Given the description of an element on the screen output the (x, y) to click on. 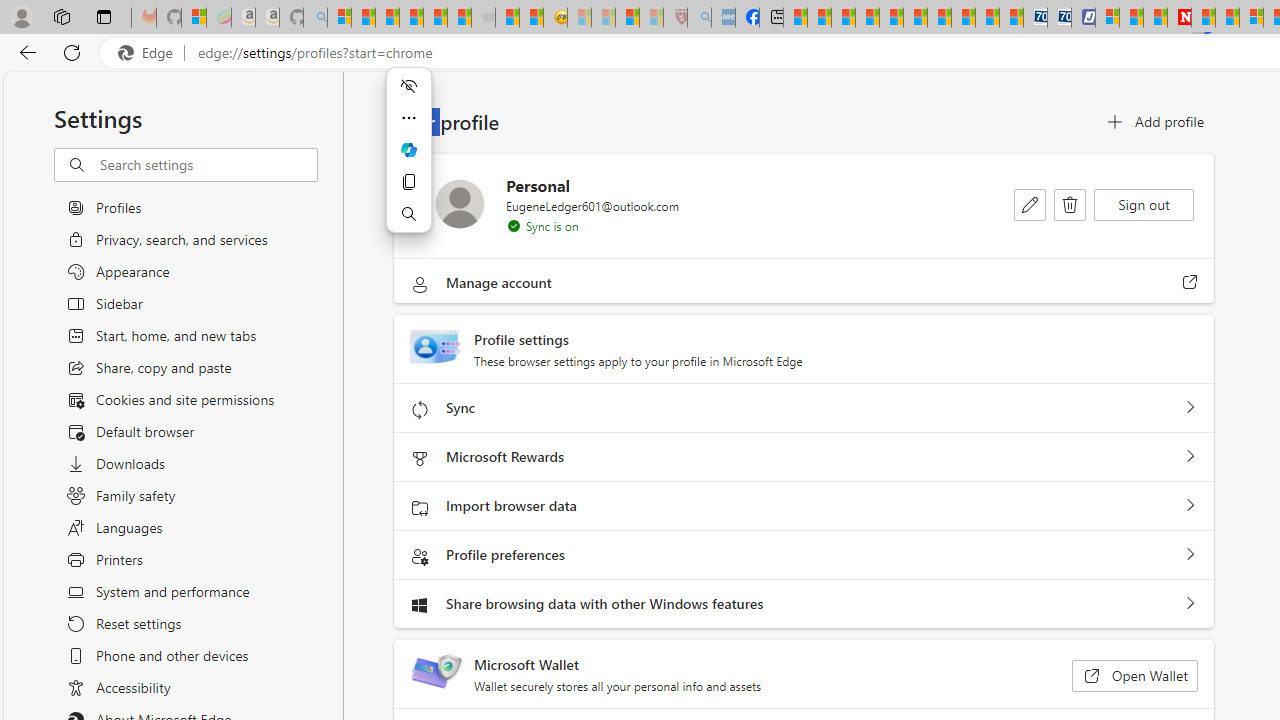
Microsoft-Report a Concern to Bing (193, 17)
Manage account (1190, 282)
Copy (408, 182)
Personal Avatar icon (459, 203)
Mini menu on text selection (408, 149)
Stocks - MSN (459, 17)
Share browsing data with other Windows features (1190, 604)
Delete (1069, 204)
NCL Adult Asthma Inhaler Choice Guideline - Sleeping (722, 17)
Search settings (207, 165)
